Given the description of an element on the screen output the (x, y) to click on. 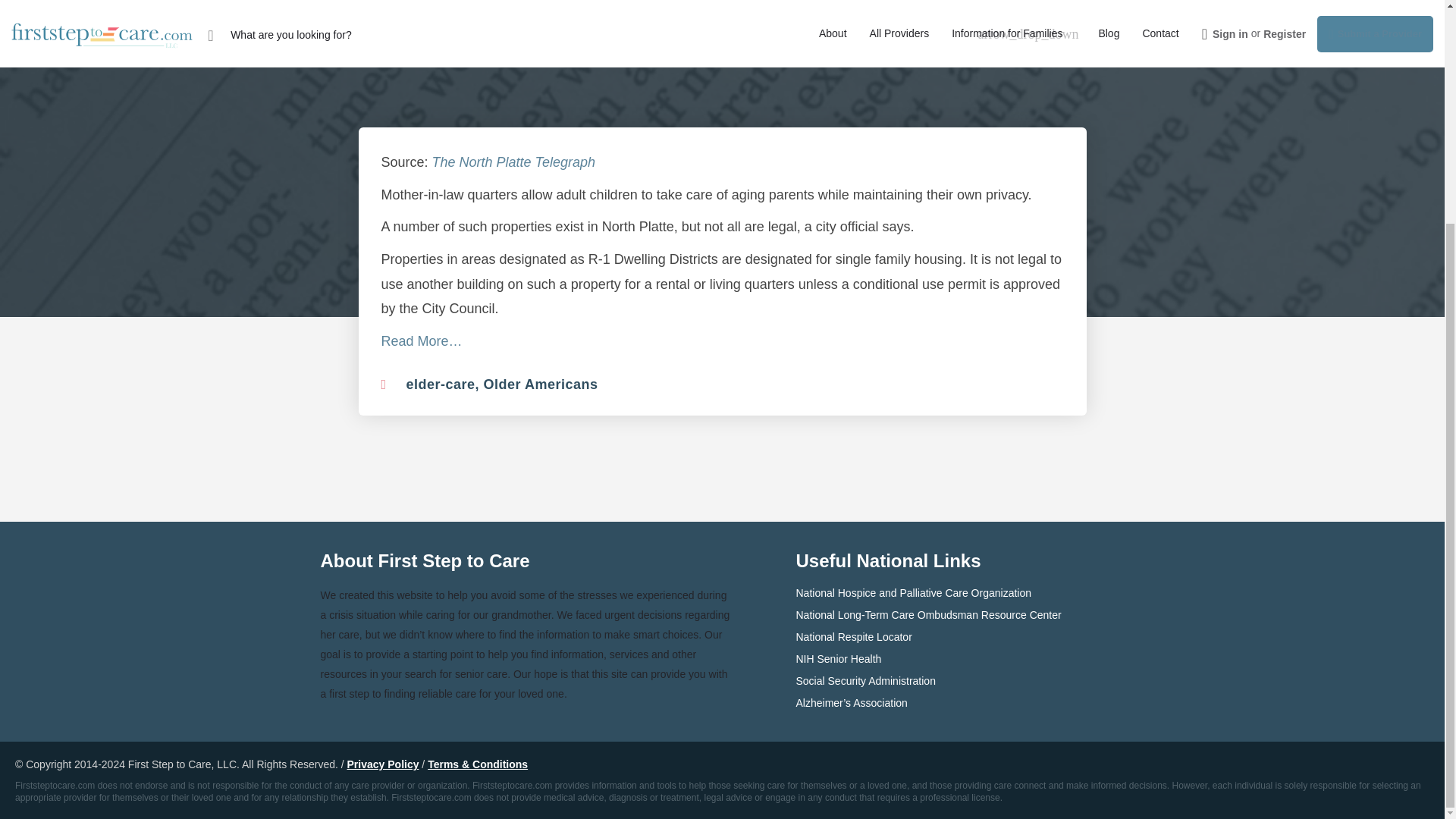
The North Platte Telegraph  (515, 161)
Older Americans (540, 384)
elder-care (441, 384)
News (669, 35)
July 22, 2017 (758, 36)
